Given the description of an element on the screen output the (x, y) to click on. 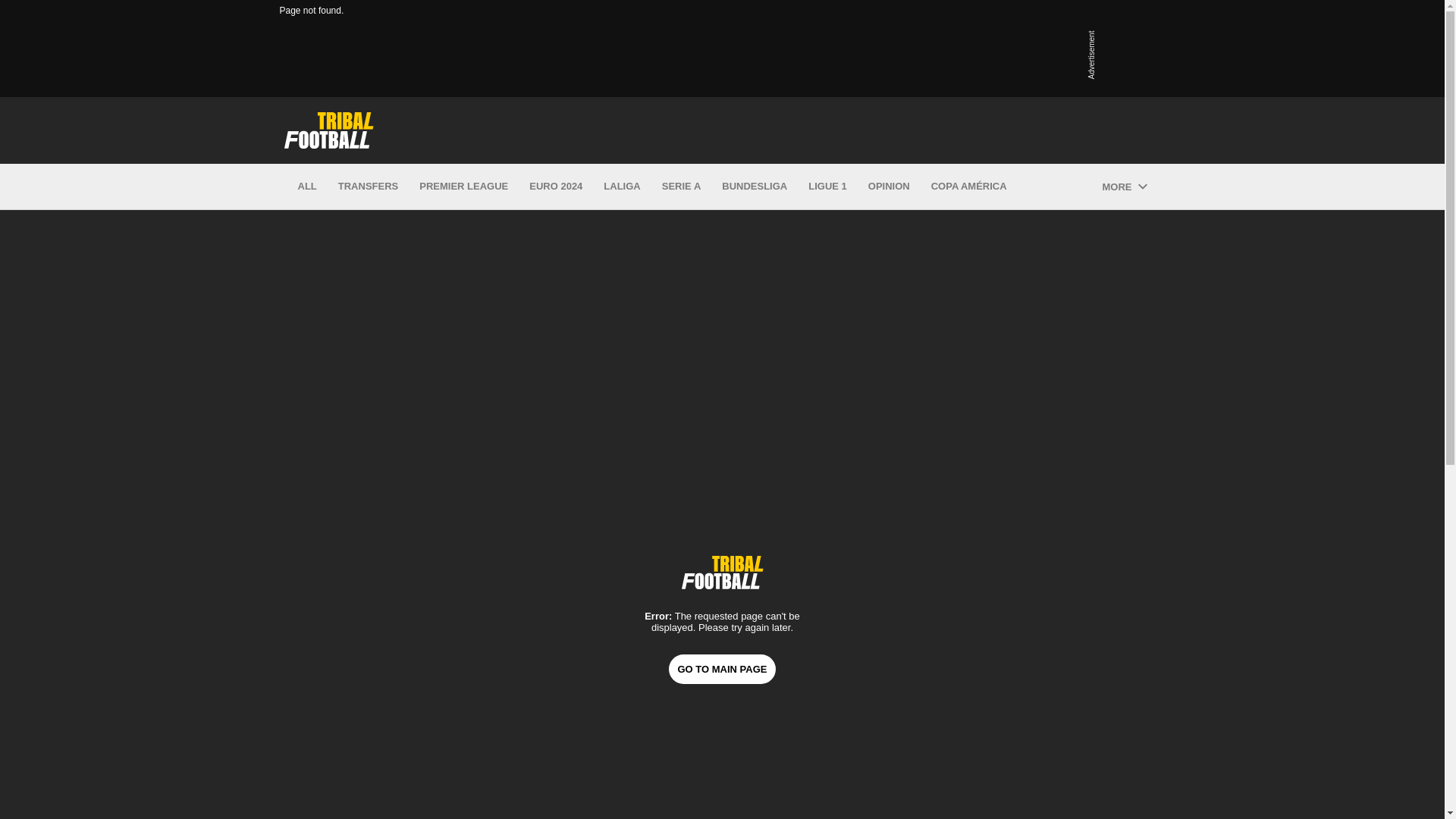
GO TO MAIN PAGE (722, 668)
TRANSFERS (367, 186)
MORE (1124, 186)
BUNDESLIGA (754, 186)
PREMIER LEAGUE (463, 186)
EURO 2024 (555, 186)
OPINION (888, 186)
